Given the description of an element on the screen output the (x, y) to click on. 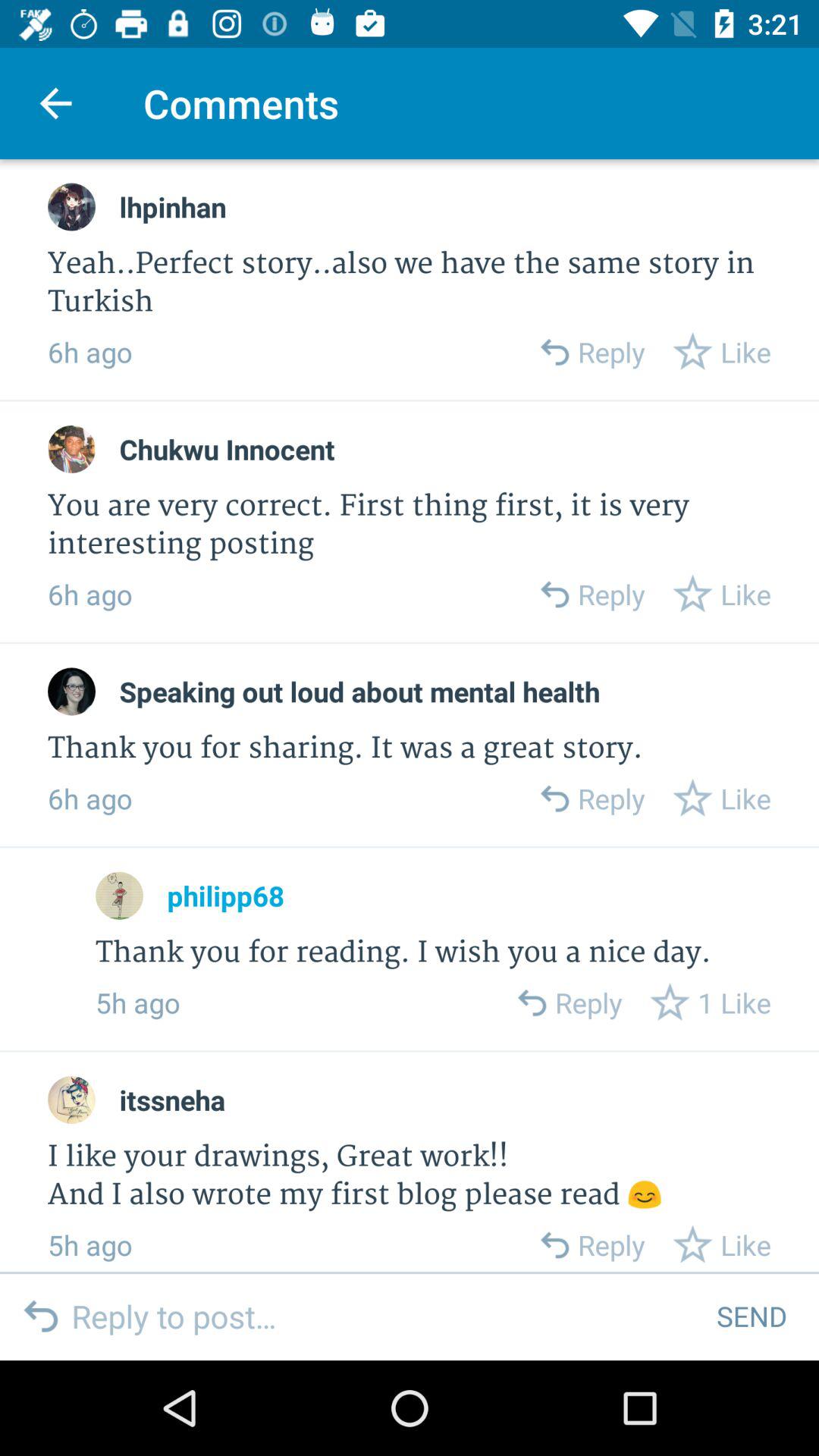
view profile (71, 1099)
